Given the description of an element on the screen output the (x, y) to click on. 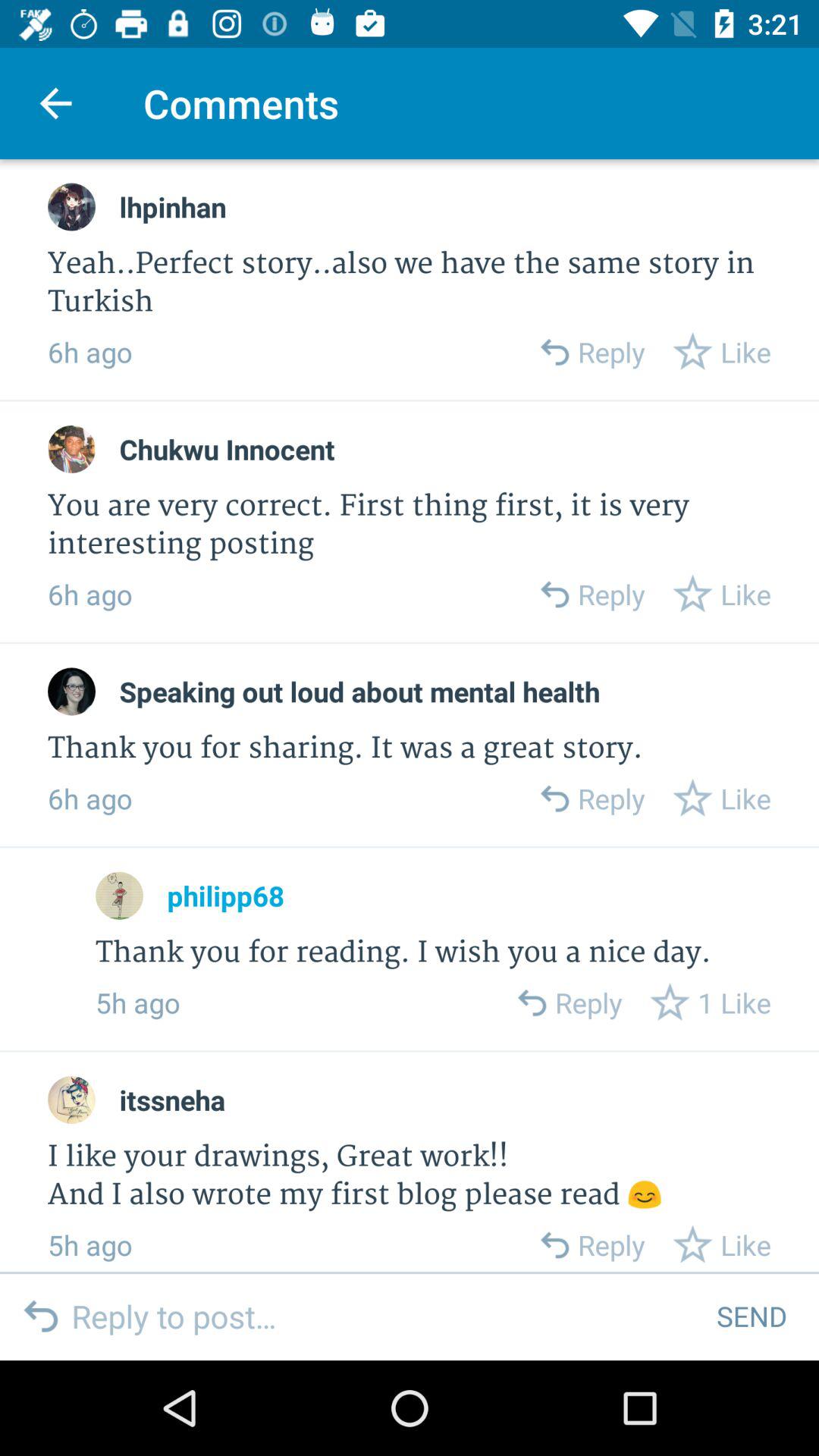
view profile (71, 1099)
